Given the description of an element on the screen output the (x, y) to click on. 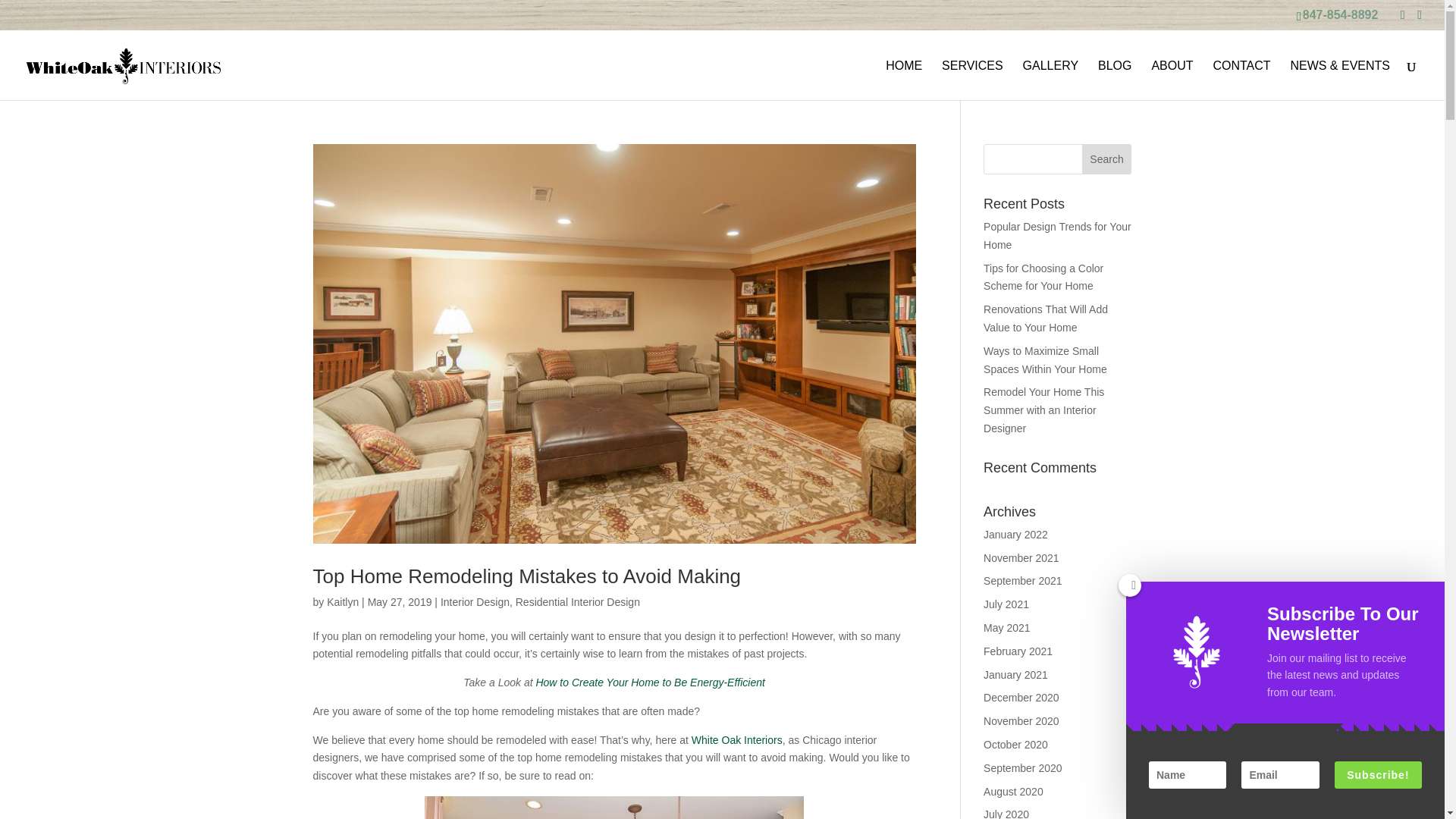
SERVICES (972, 79)
HOME (903, 79)
Posts by Kaitlyn (342, 602)
CONTACT (1240, 79)
Search (1106, 159)
GALLERY (1050, 79)
ABOUT (1171, 79)
How to Create Your Home to Be Energy-Efficient (649, 682)
Kaitlyn (342, 602)
Interior Design (475, 602)
